Given the description of an element on the screen output the (x, y) to click on. 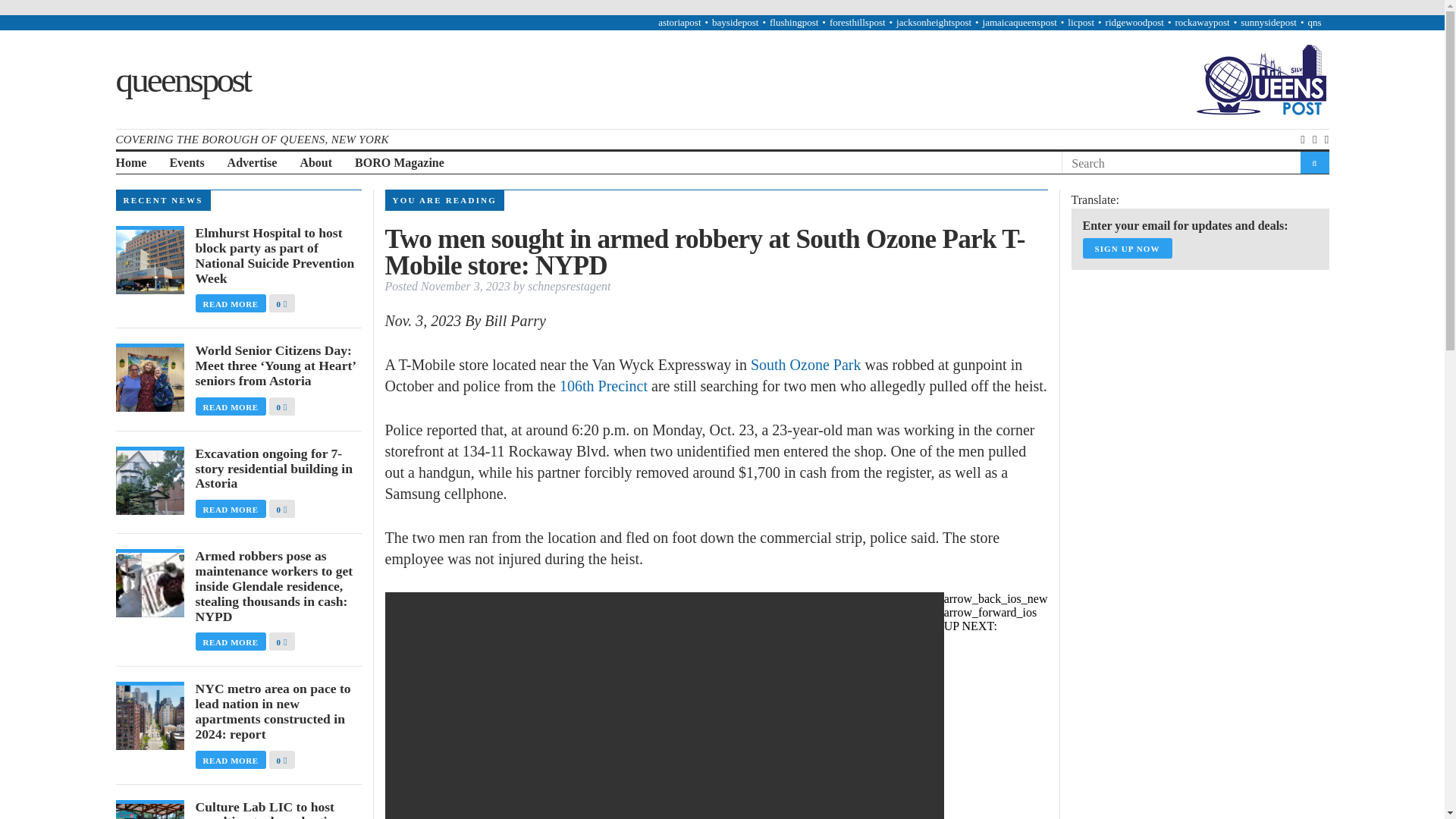
South Ozone Park (806, 364)
flushingpost (794, 21)
About (315, 163)
qns (1313, 21)
rockawaypost (1201, 21)
Advertise (252, 163)
jamaicaqueenspost (1019, 21)
Events (185, 163)
astoriapost (679, 21)
106th Precinct (603, 385)
